Given the description of an element on the screen output the (x, y) to click on. 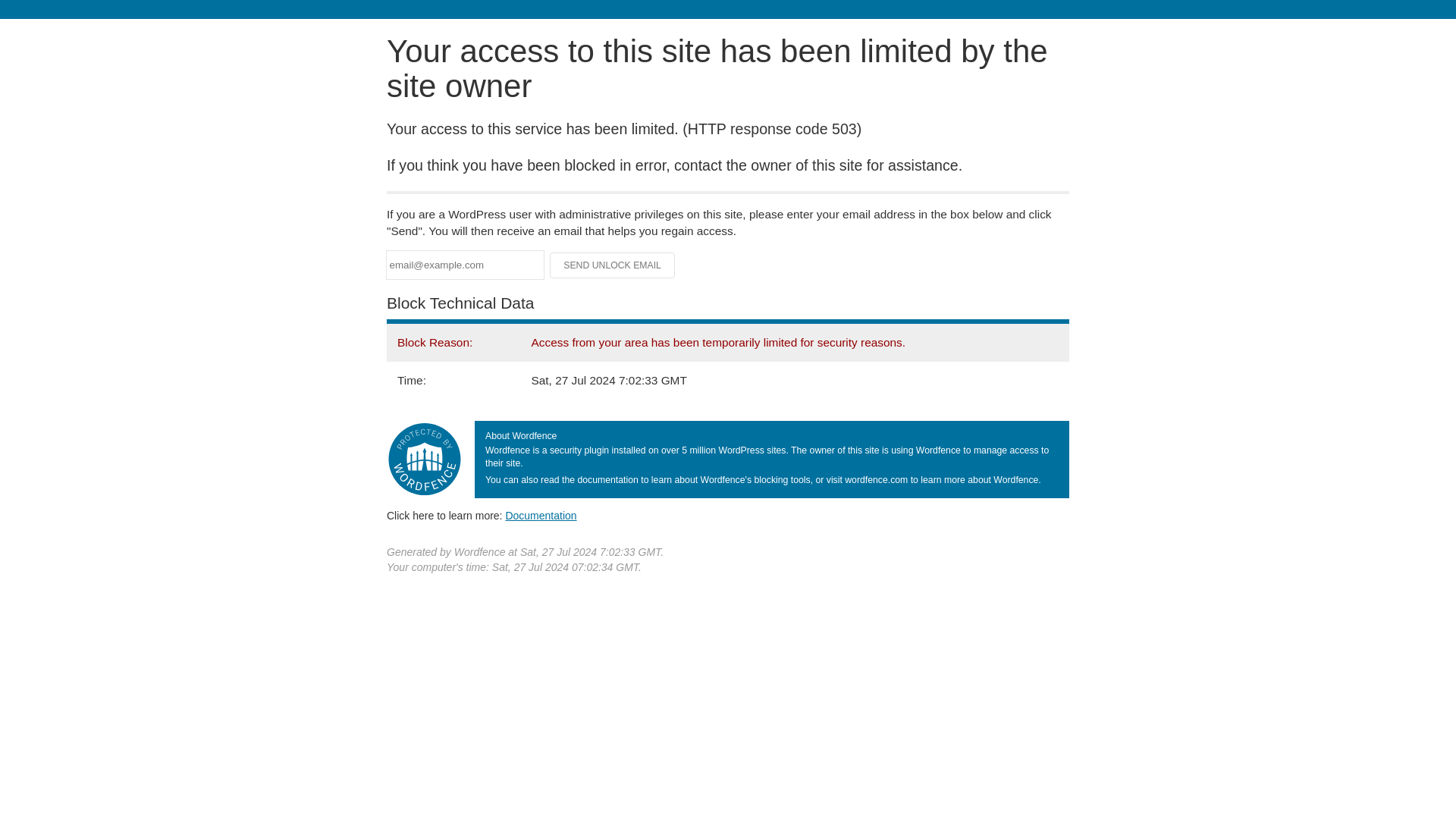
Send Unlock Email (612, 265)
Send Unlock Email (612, 265)
Documentation (540, 515)
